Given the description of an element on the screen output the (x, y) to click on. 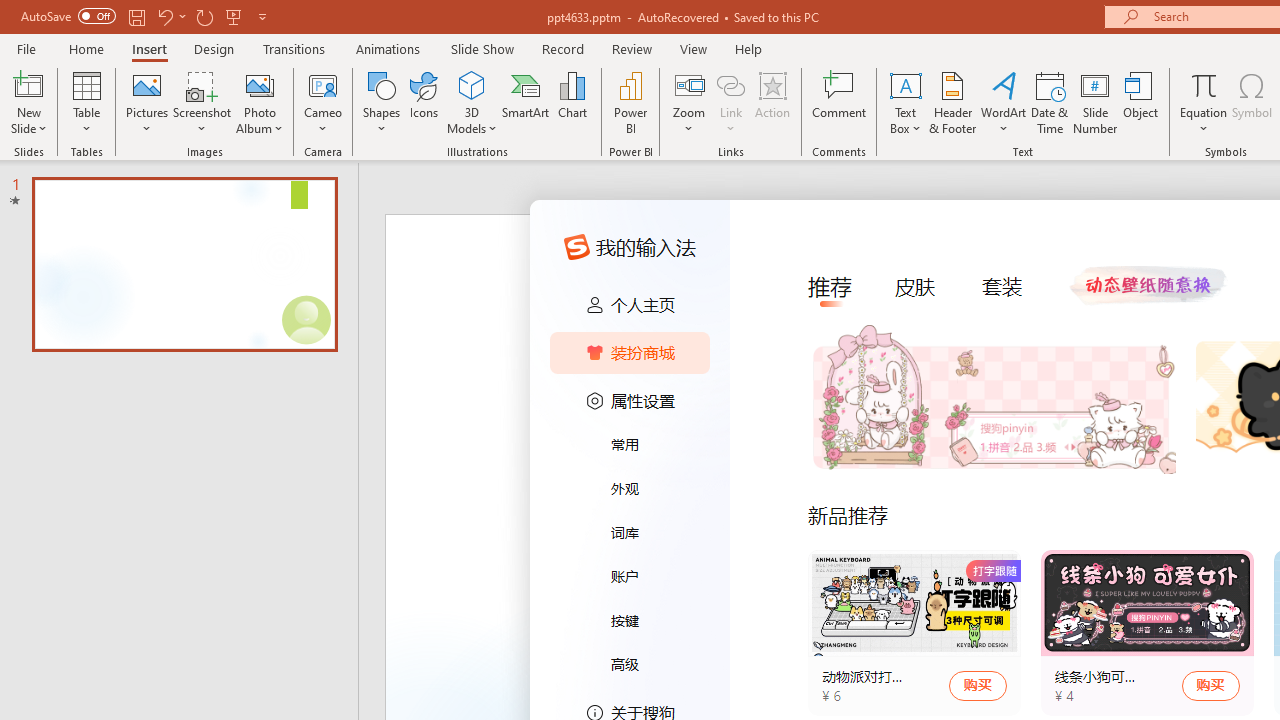
Link (731, 84)
Object... (1141, 102)
Header & Footer... (952, 102)
Date & Time... (1050, 102)
WordArt (1004, 102)
3D Models (472, 102)
New Photo Album... (259, 84)
Table (86, 102)
